Given the description of an element on the screen output the (x, y) to click on. 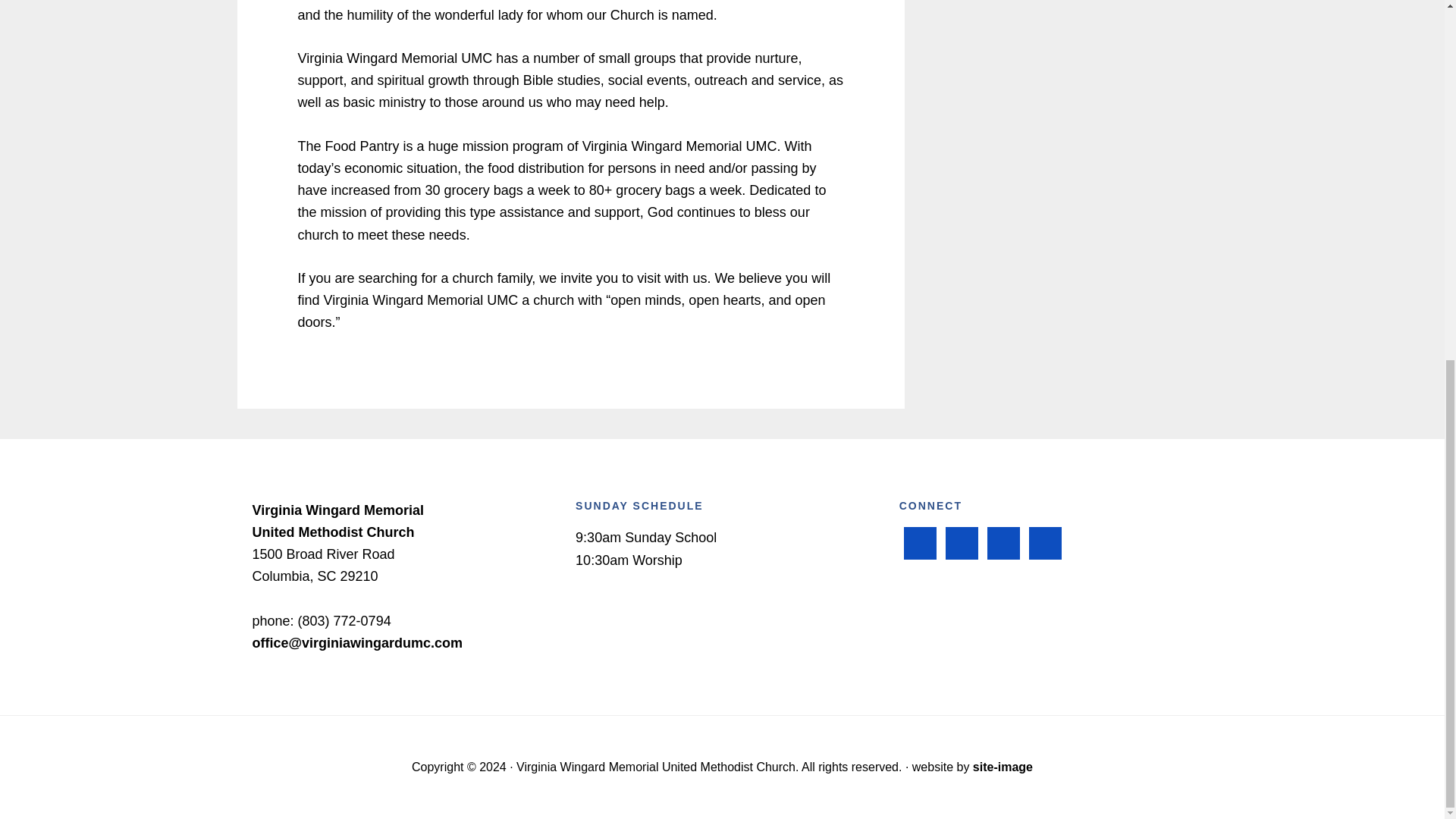
site-image (1002, 766)
